Given the description of an element on the screen output the (x, y) to click on. 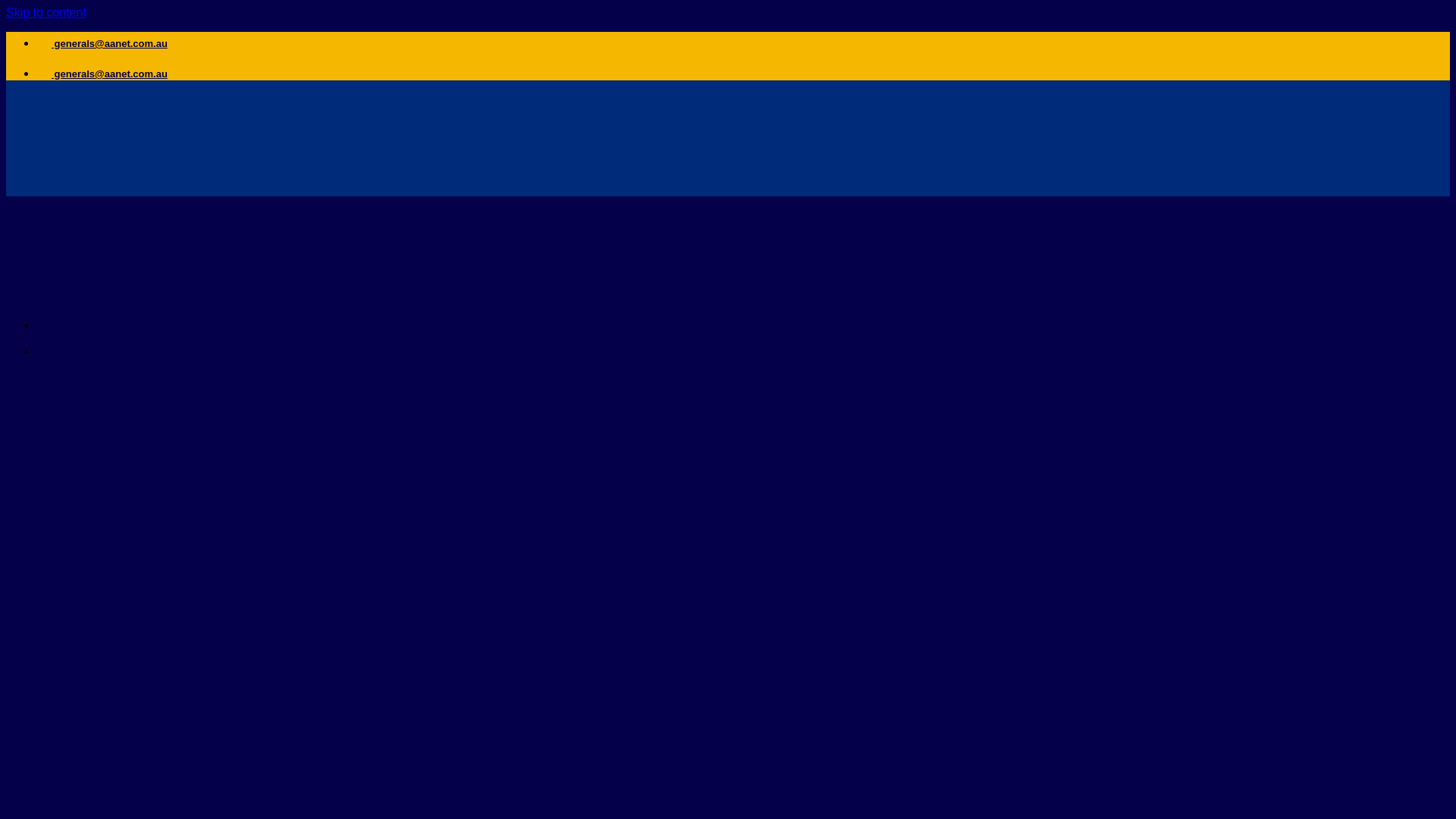
generals@aanet.com.au Element type: text (101, 73)
Generals Automotive - Automotive Services Element type: hover (157, 245)
generals@aanet.com.au Element type: text (101, 43)
Skip to content Element type: text (46, 12)
